Given the description of an element on the screen output the (x, y) to click on. 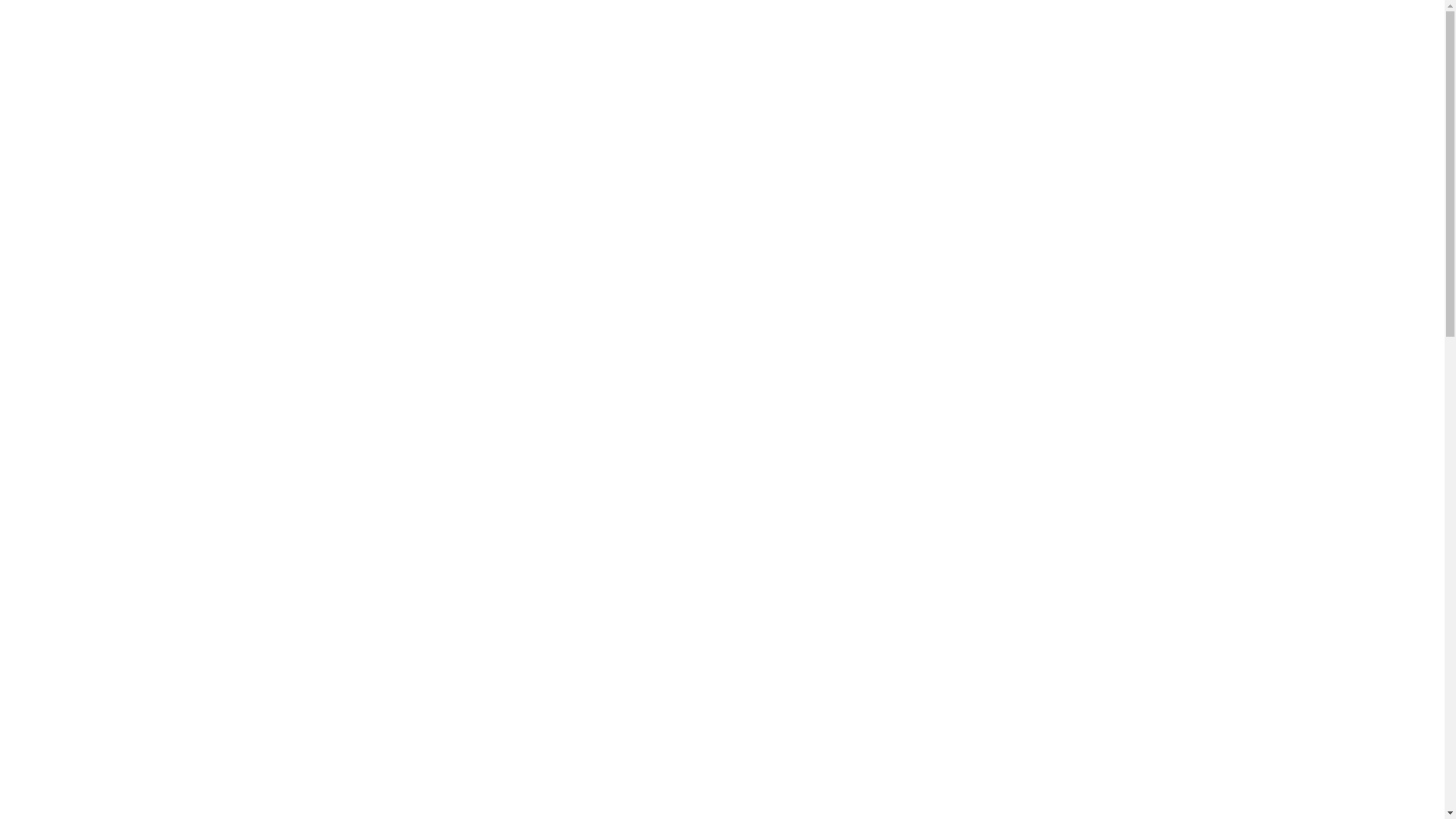
youtube Element type: hover (1112, 17)
Why Graphic Design is Important for Any Business! Element type: text (1013, 447)
ABOUT Element type: text (696, 46)
6 Key Elements Of Branding Element type: text (980, 393)
facebook Element type: hover (1061, 17)
watch free Element type: text (936, 600)
CONTACT Element type: text (1109, 46)
BLOG Element type: text (1032, 46)
GET A QUOTE Element type: text (944, 46)
Search Element type: text (1129, 270)
instagram Element type: hover (1137, 17)
720p Element type: text (922, 641)
twitter Element type: hover (1086, 17)
The Importance of Typography In Branding Element type: text (1019, 502)
Why Graphic Design is Important for Any Business! Element type: text (1002, 609)
Why Responsive Design is Important! Element type: text (1003, 415)
Mango Bites Consulting Element type: hover (372, 75)
HOME Element type: text (623, 46)
Why Graphic Design is Important for Any Business! Element type: text (1025, 650)
WORK Element type: text (769, 46)
SERVICES Element type: text (847, 46)
